Given the description of an element on the screen output the (x, y) to click on. 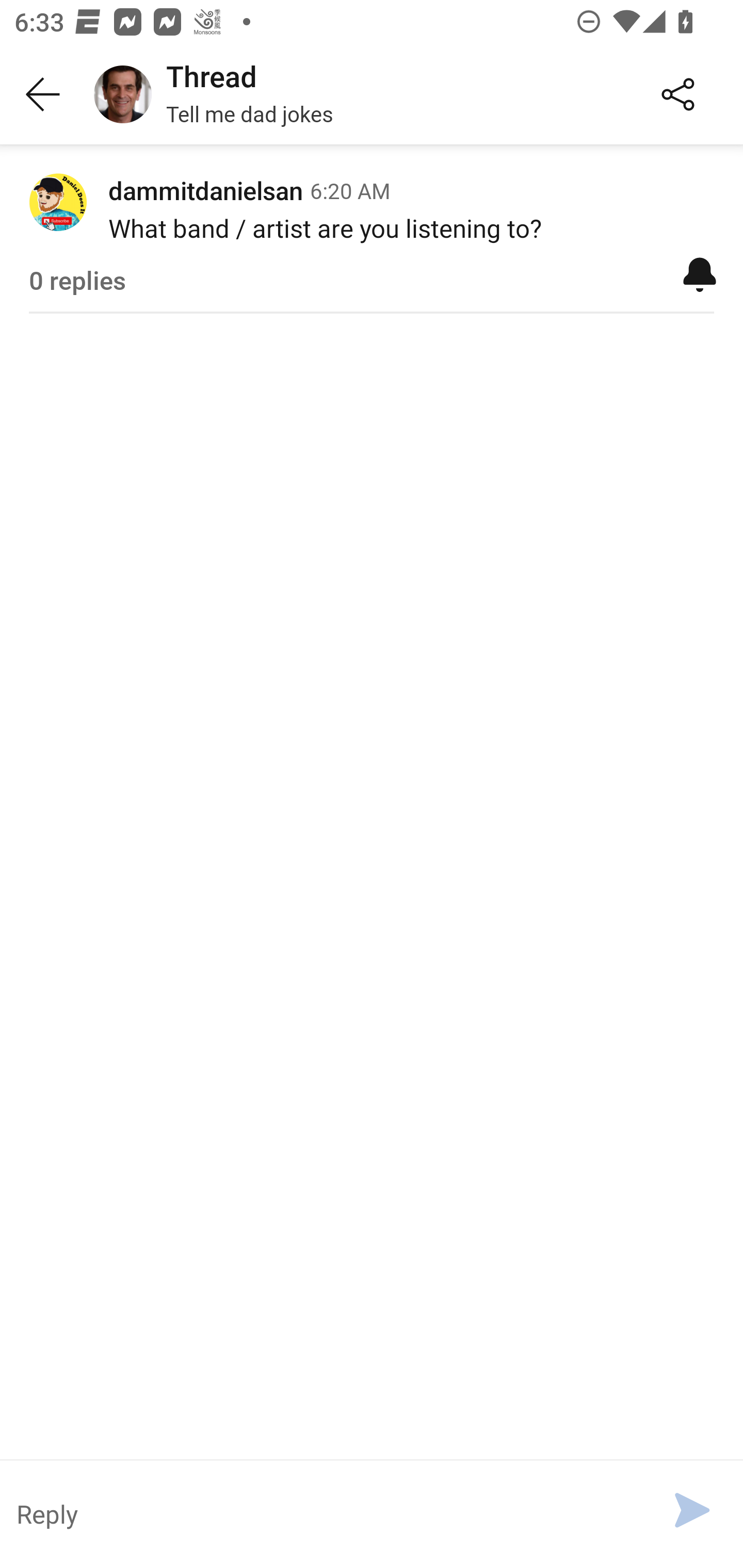
Back (43, 94)
Share (677, 94)
Mute (699, 273)
Send message (692, 1510)
Message Reply (324, 1513)
